Given the description of an element on the screen output the (x, y) to click on. 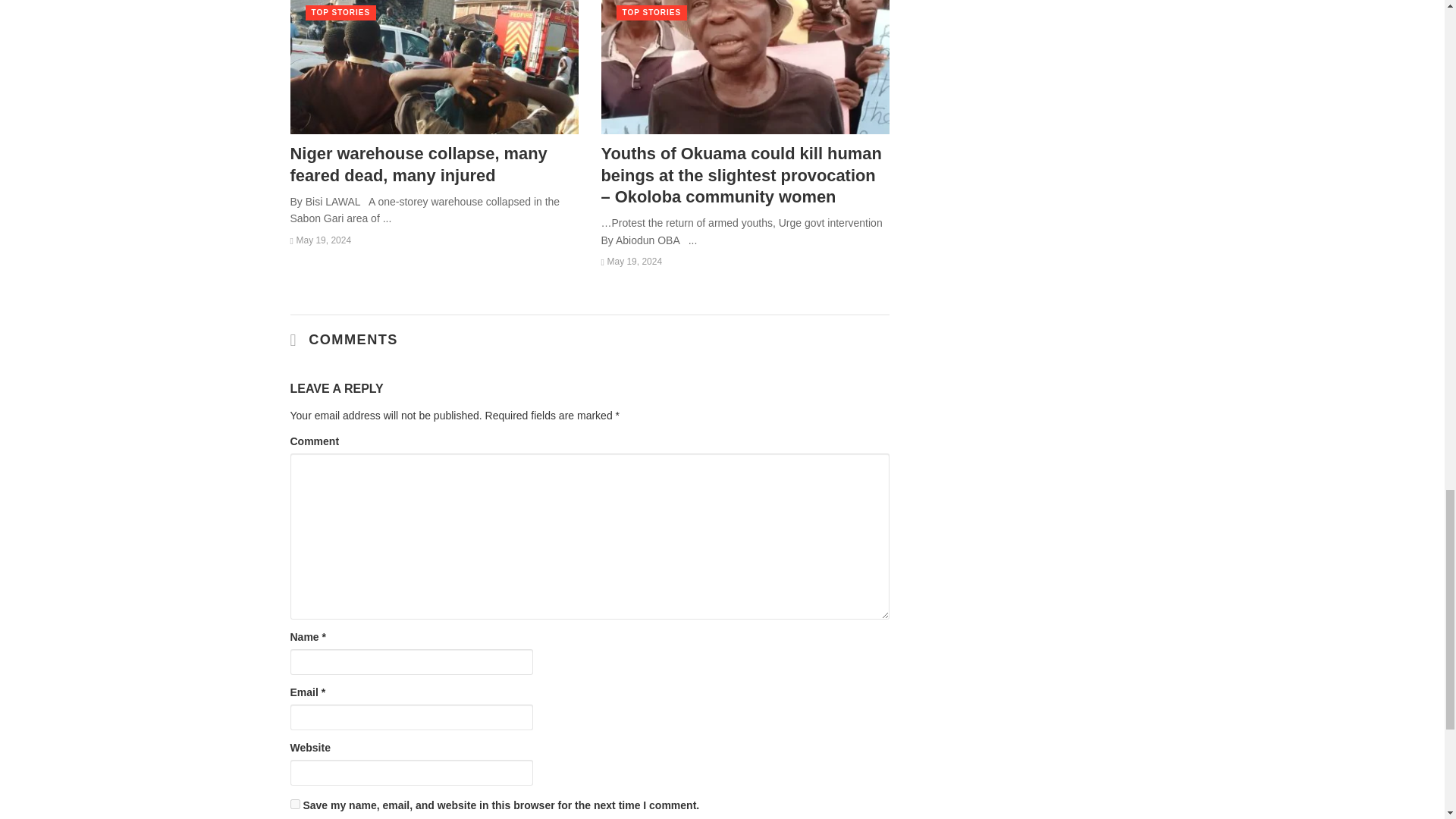
TOP STORIES (339, 12)
May 19, 2024 at 12:05 am (319, 240)
May 19, 2024 at 12:01 am (630, 261)
Niger warehouse collapse, many feared dead, many injured (433, 164)
yes (294, 804)
